Given the description of an element on the screen output the (x, y) to click on. 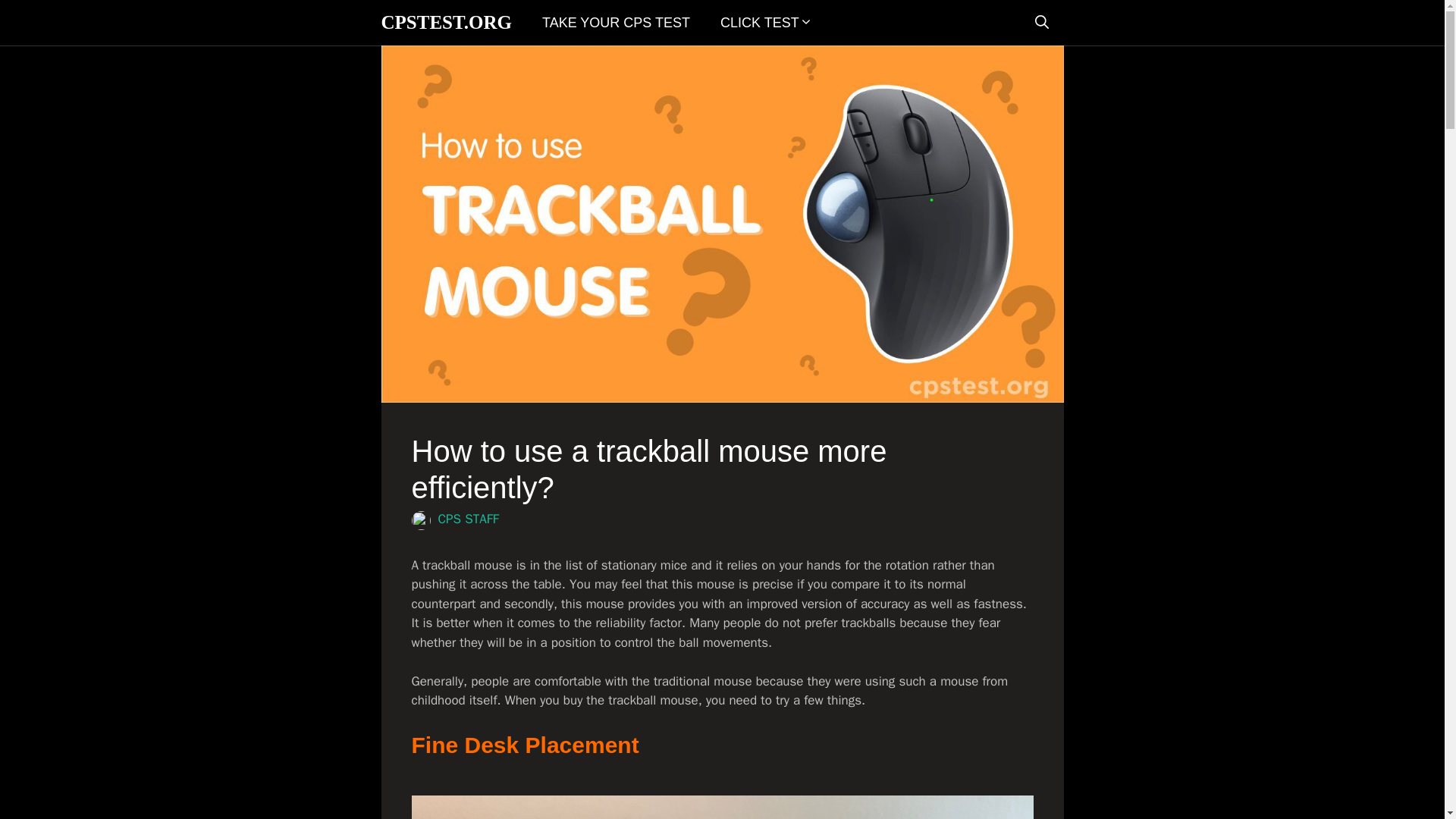
CPS STAFF (468, 519)
CPSTEST.ORG (446, 22)
TAKE YOUR CPS TEST (615, 22)
CLICK TEST (766, 22)
View all posts by CPS STAFF (468, 519)
